Given the description of an element on the screen output the (x, y) to click on. 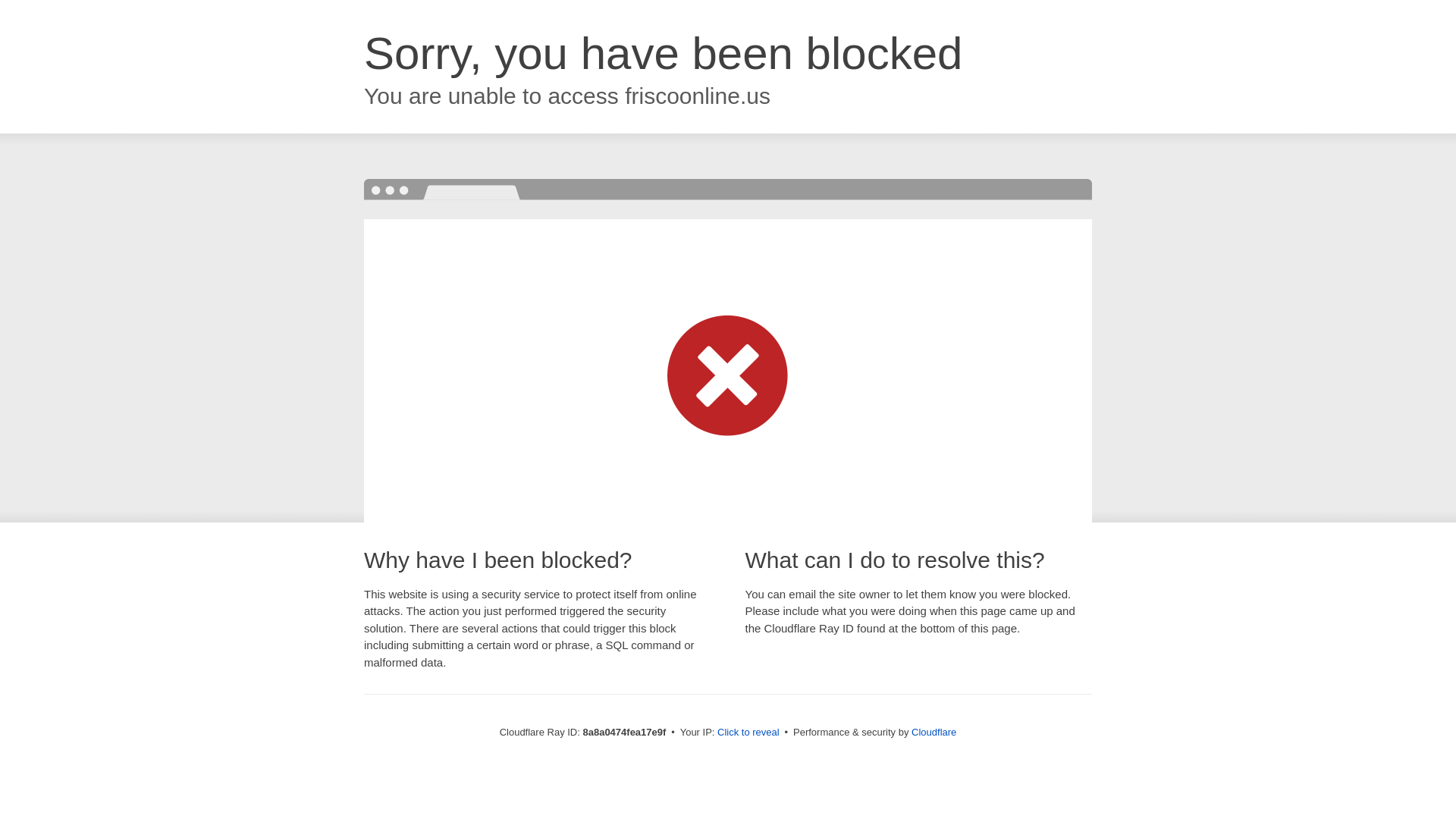
Cloudflare (933, 731)
Click to reveal (747, 732)
